Given the description of an element on the screen output the (x, y) to click on. 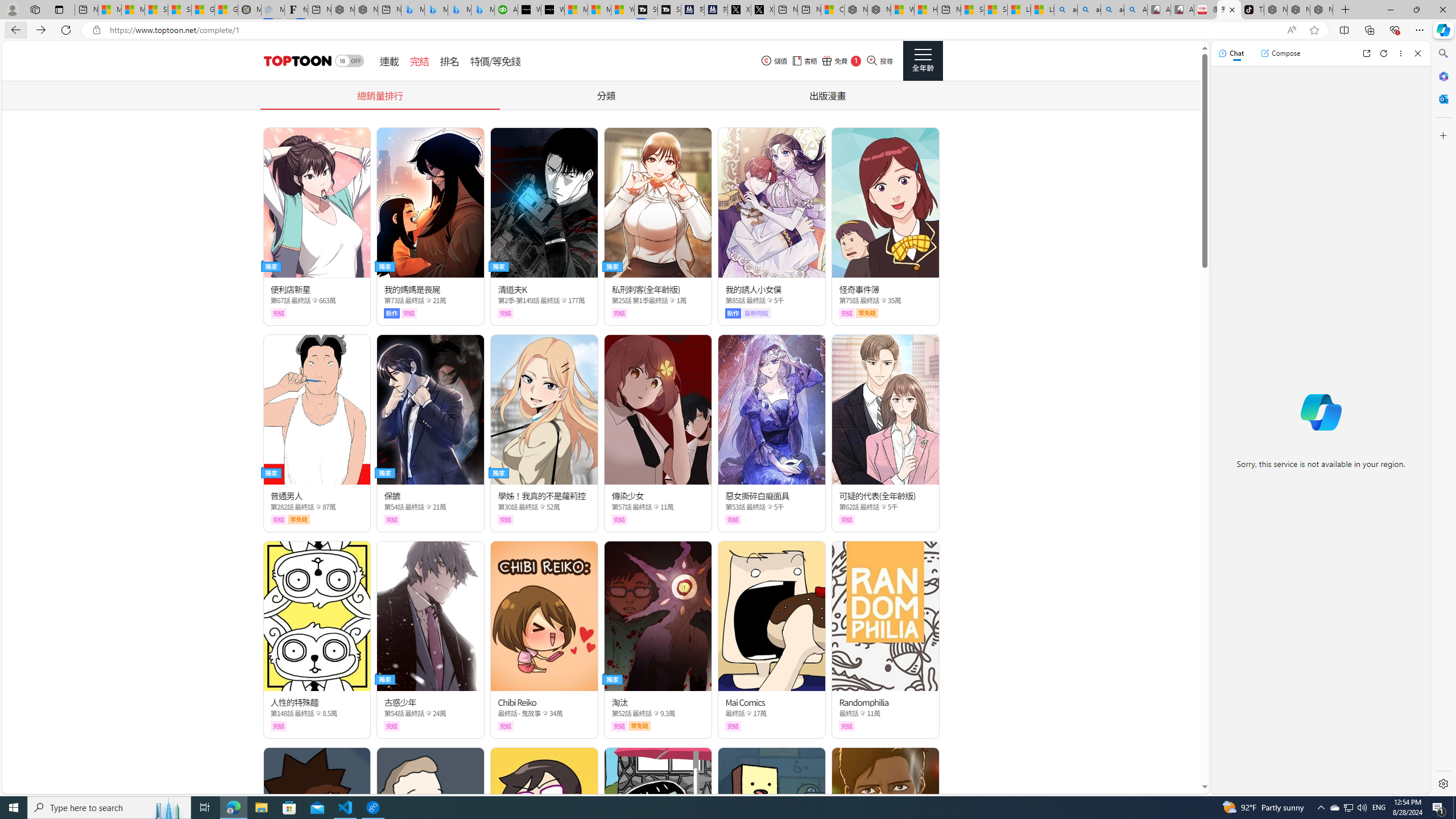
Shanghai, China weather forecast | Microsoft Weather (179, 9)
Amazon Echo Robot - Search Images (1135, 9)
Nordace - #1 Japanese Best-Seller - Siena Smart Backpack (365, 9)
Microsoft Bing Travel - Stays in Bangkok, Bangkok, Thailand (435, 9)
Outlook (1442, 98)
